Given the description of an element on the screen output the (x, y) to click on. 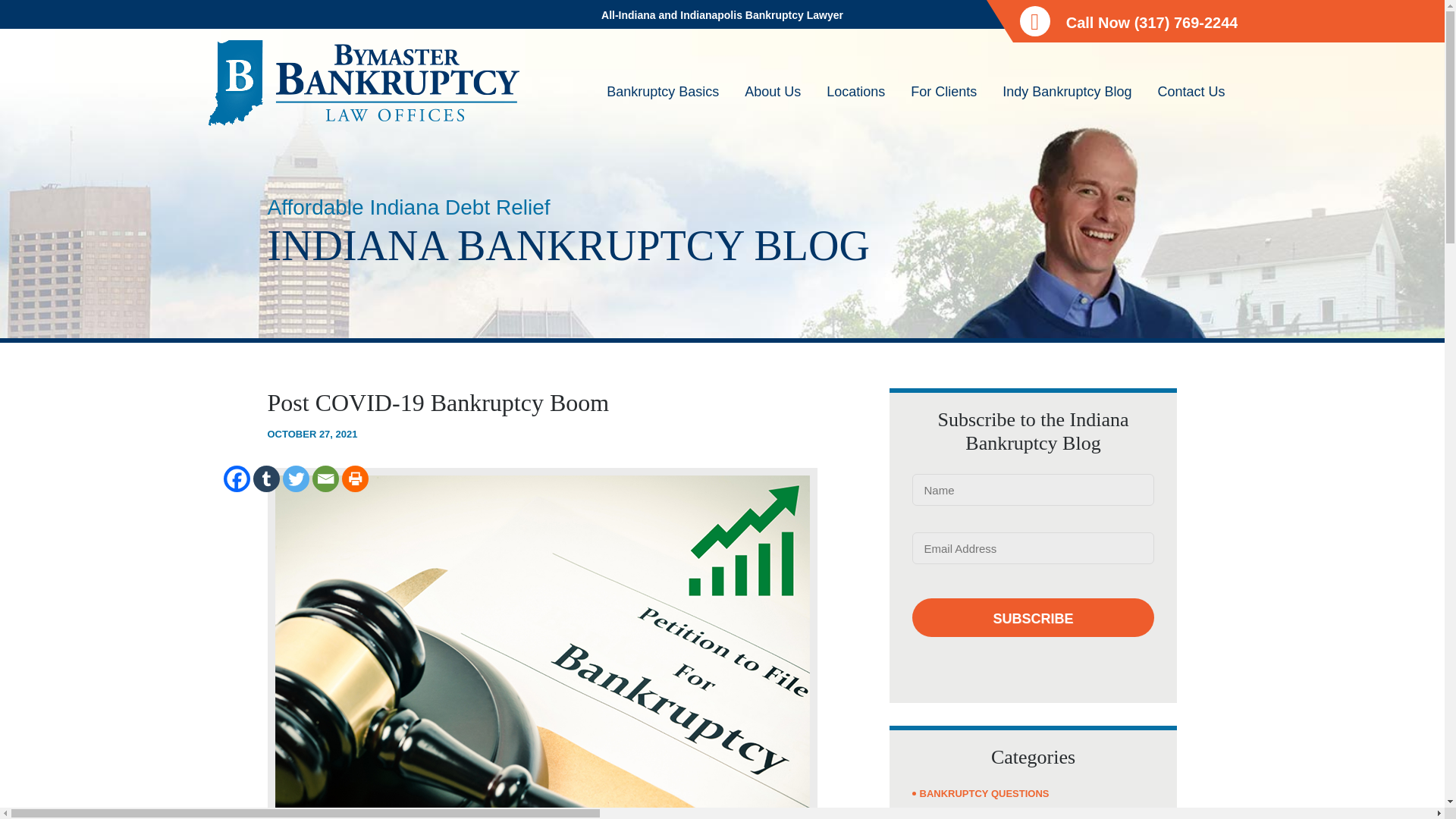
Subscribe (1032, 617)
About Us (772, 104)
Locations (855, 104)
For Clients (944, 104)
For Clients (944, 104)
Subscribe (1032, 617)
About Us (772, 104)
Locations (855, 104)
Indy Bankruptcy Blog (1067, 104)
Bankruptcy Basics (663, 104)
